Given the description of an element on the screen output the (x, y) to click on. 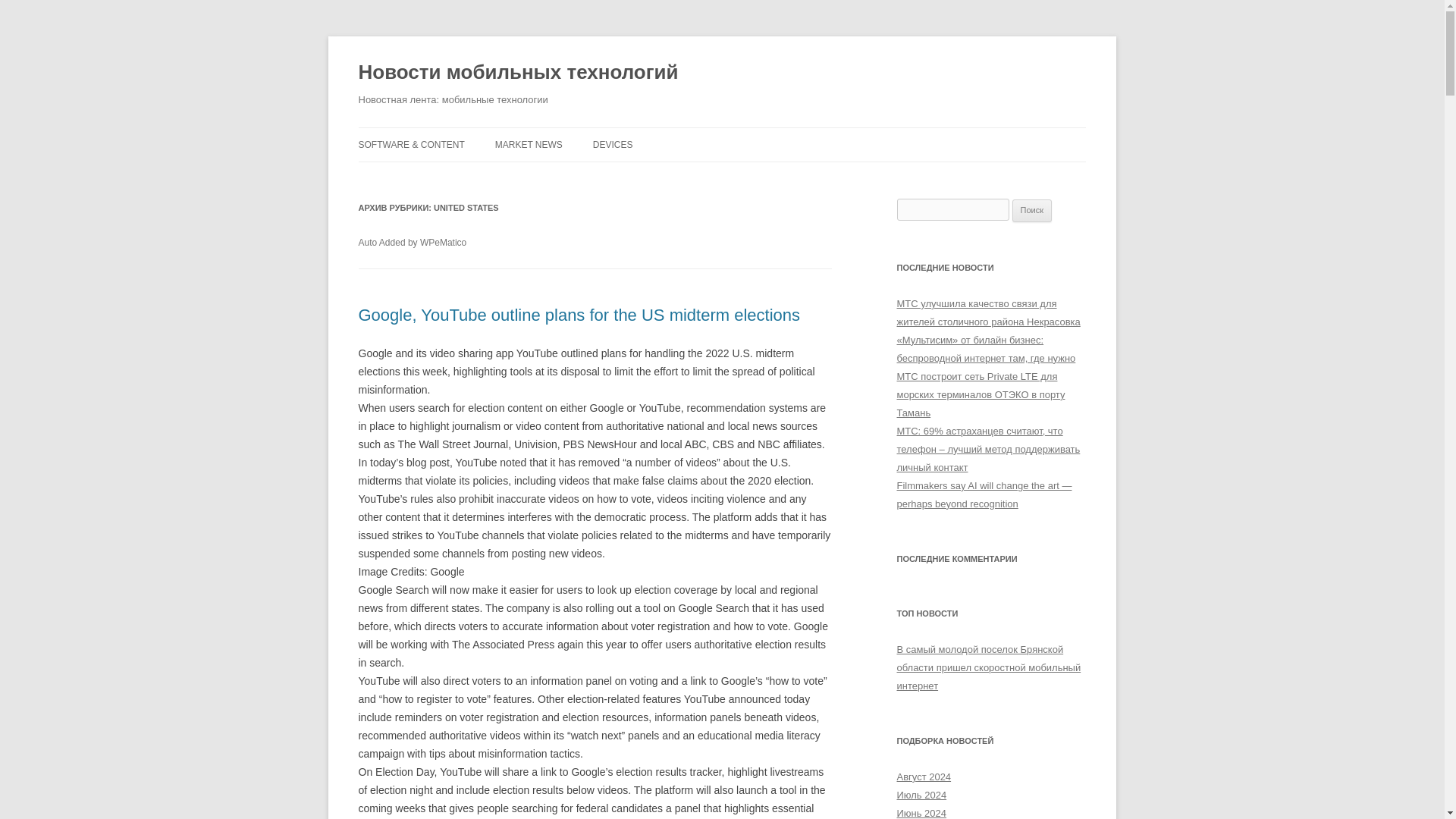
DEVICES (612, 144)
MARKET NEWS (528, 144)
Google, YouTube outline plans for the US midterm elections (578, 314)
